Given the description of an element on the screen output the (x, y) to click on. 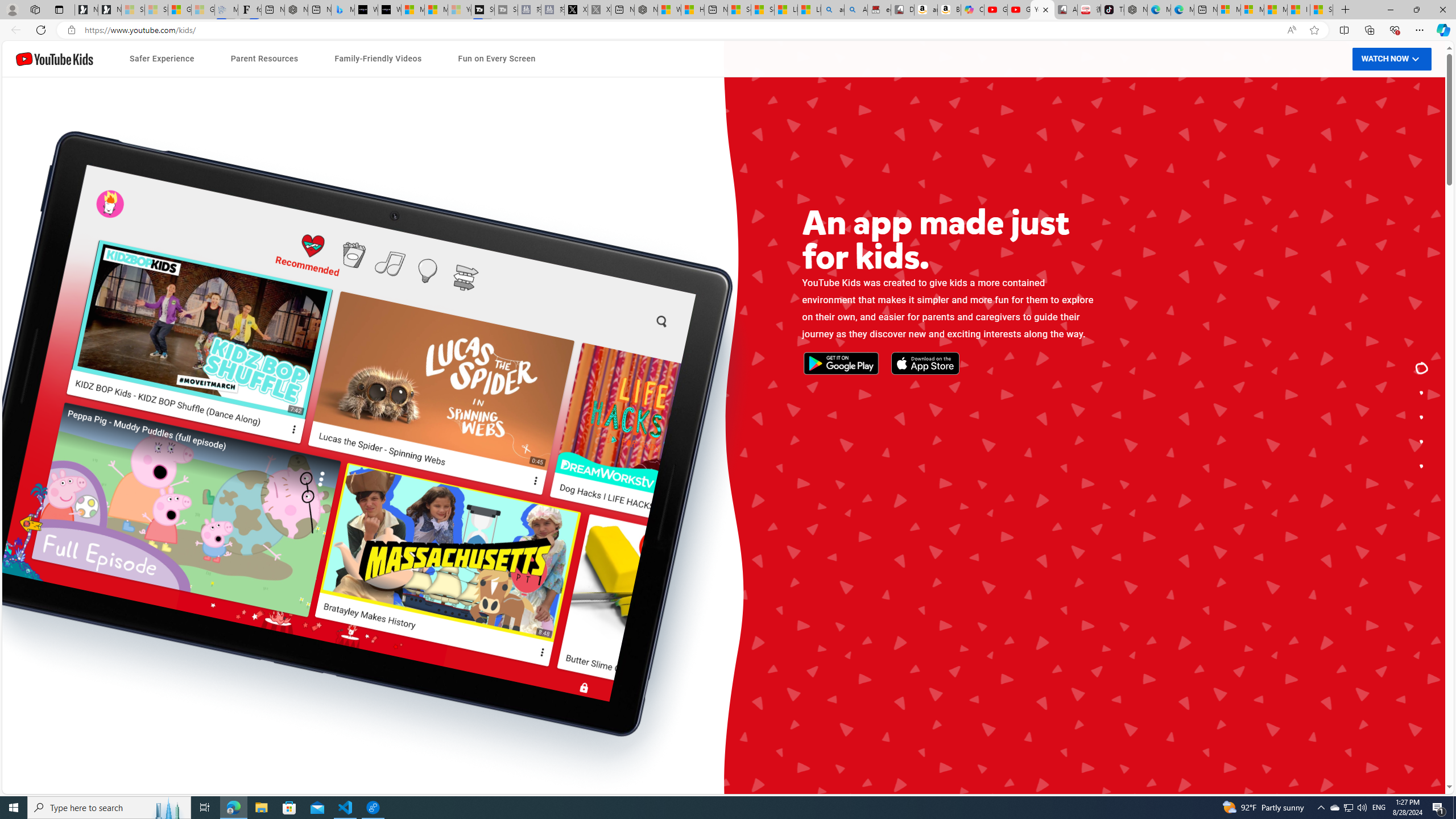
Download the free YouTube Kids app. (1421, 466)
04Blocking (496, 550)
TikTok (1112, 9)
Download the free YouTube Kids app. (1421, 466)
CONTINUE EXPLORING (861, 443)
Copilot (972, 9)
Wildlife - MSN (668, 9)
01Arts & Crafts (950, 487)
Nordace - Best Sellers (1135, 9)
Tips and tools for your family. (1421, 417)
I Gained 20 Pounds of Muscle in 30 Days! | Watch (1298, 9)
